Given the description of an element on the screen output the (x, y) to click on. 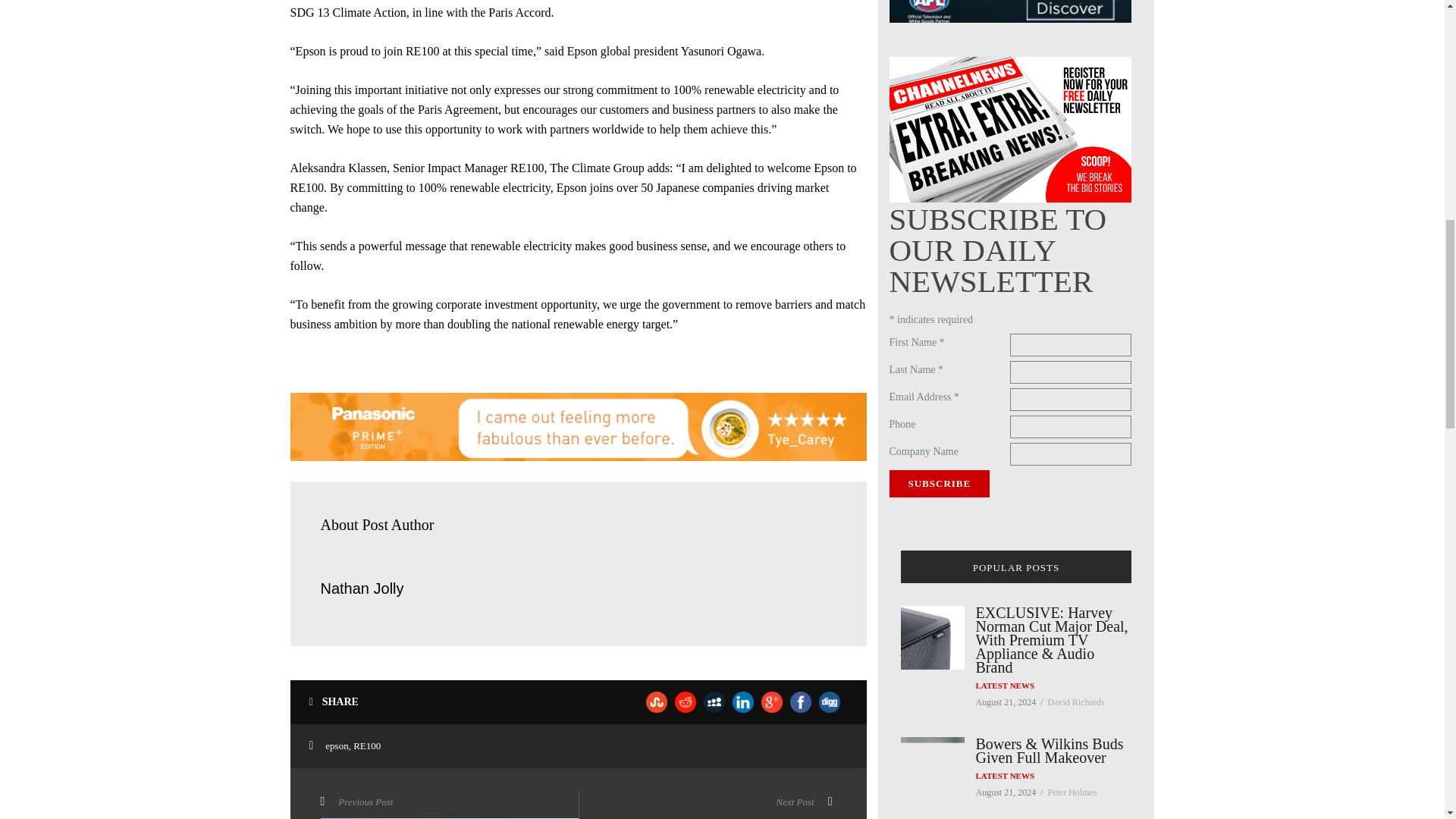
Subscribe (939, 483)
Posts by David Richards (1076, 701)
Posts by Peter Holmes (1072, 792)
Posts by Nathan Jolly (361, 588)
